Given the description of an element on the screen output the (x, y) to click on. 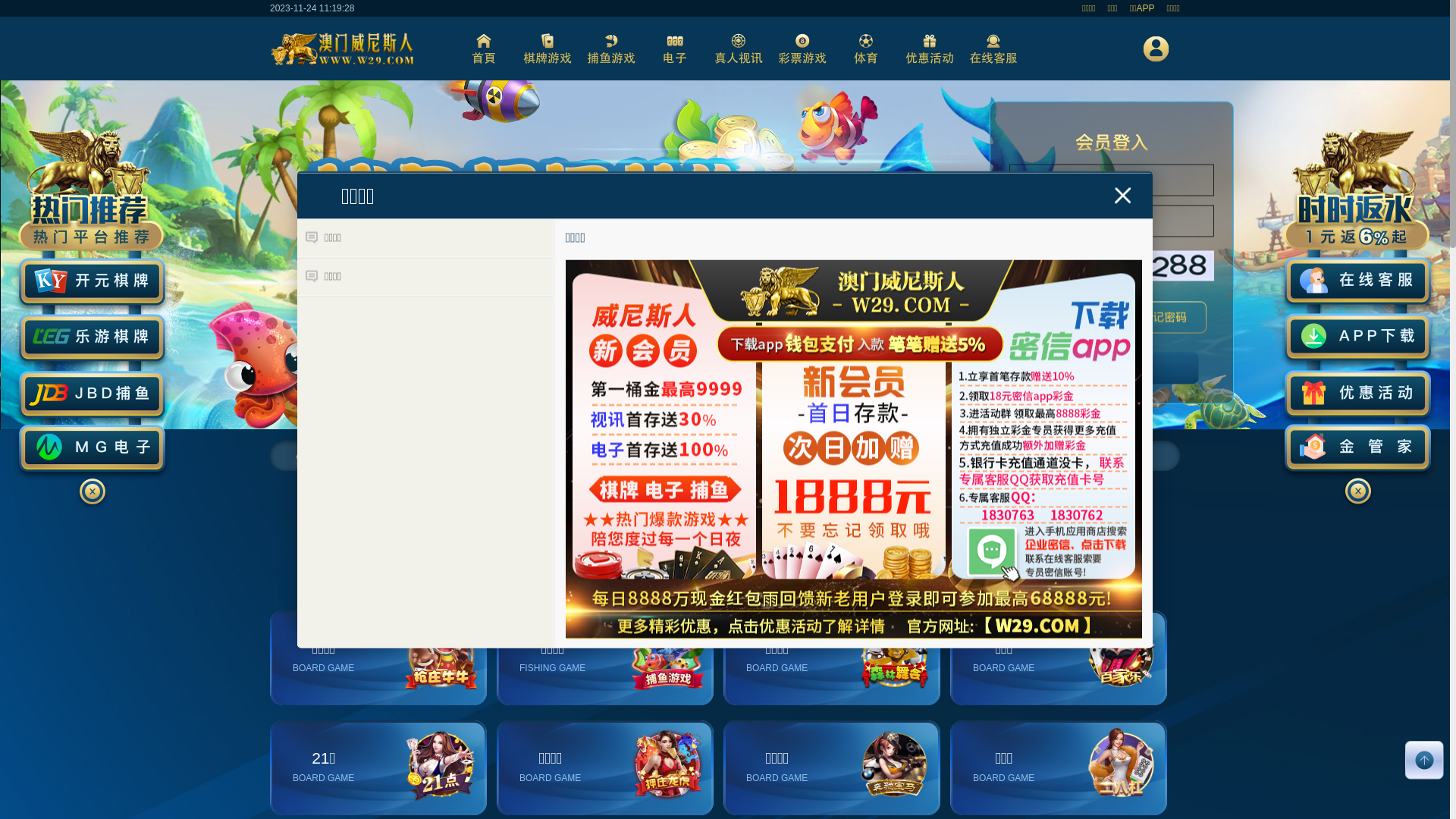
2023-11-24 11:19:27 Element type: text (311, 7)
